Given the description of an element on the screen output the (x, y) to click on. 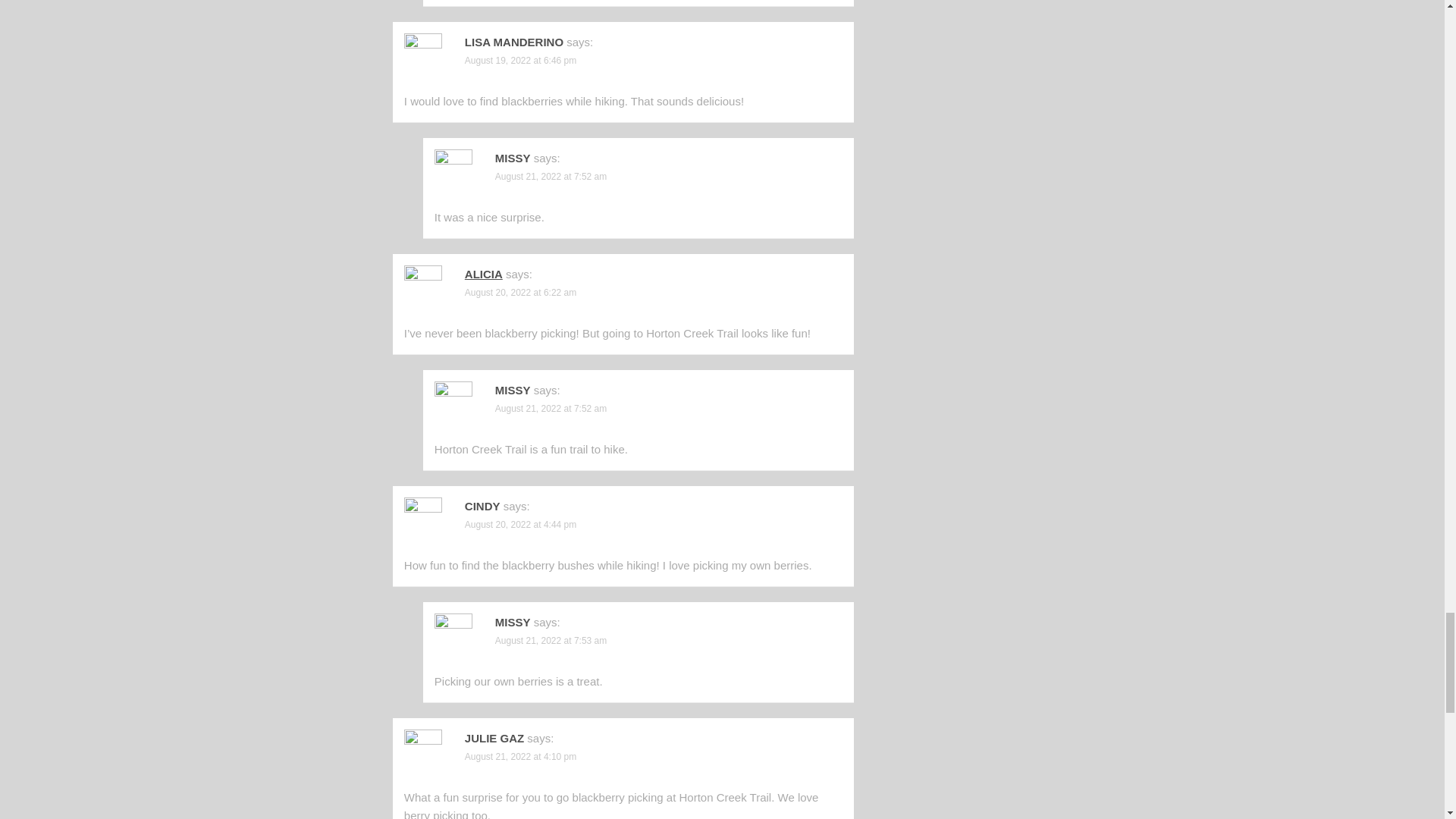
August 20, 2022 at 6:22 am (520, 292)
ALICIA (483, 273)
August 19, 2022 at 6:46 pm (520, 60)
August 21, 2022 at 7:53 am (551, 640)
August 20, 2022 at 4:44 pm (520, 524)
August 21, 2022 at 7:52 am (551, 176)
August 21, 2022 at 4:10 pm (520, 756)
August 21, 2022 at 7:52 am (551, 408)
